Given the description of an element on the screen output the (x, y) to click on. 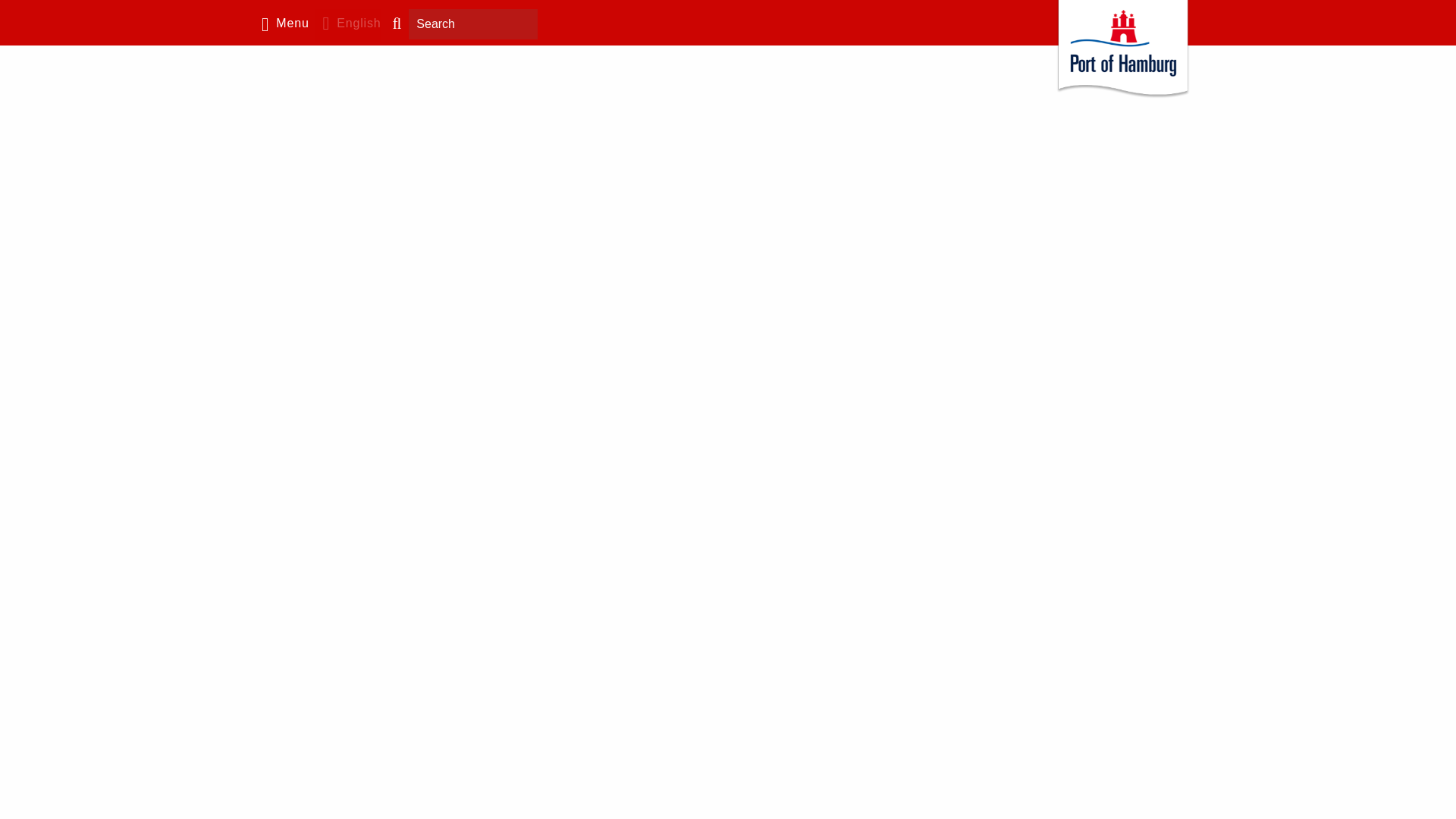
Menu (280, 25)
English (348, 25)
Menu (280, 25)
Home (1121, 53)
